Given the description of an element on the screen output the (x, y) to click on. 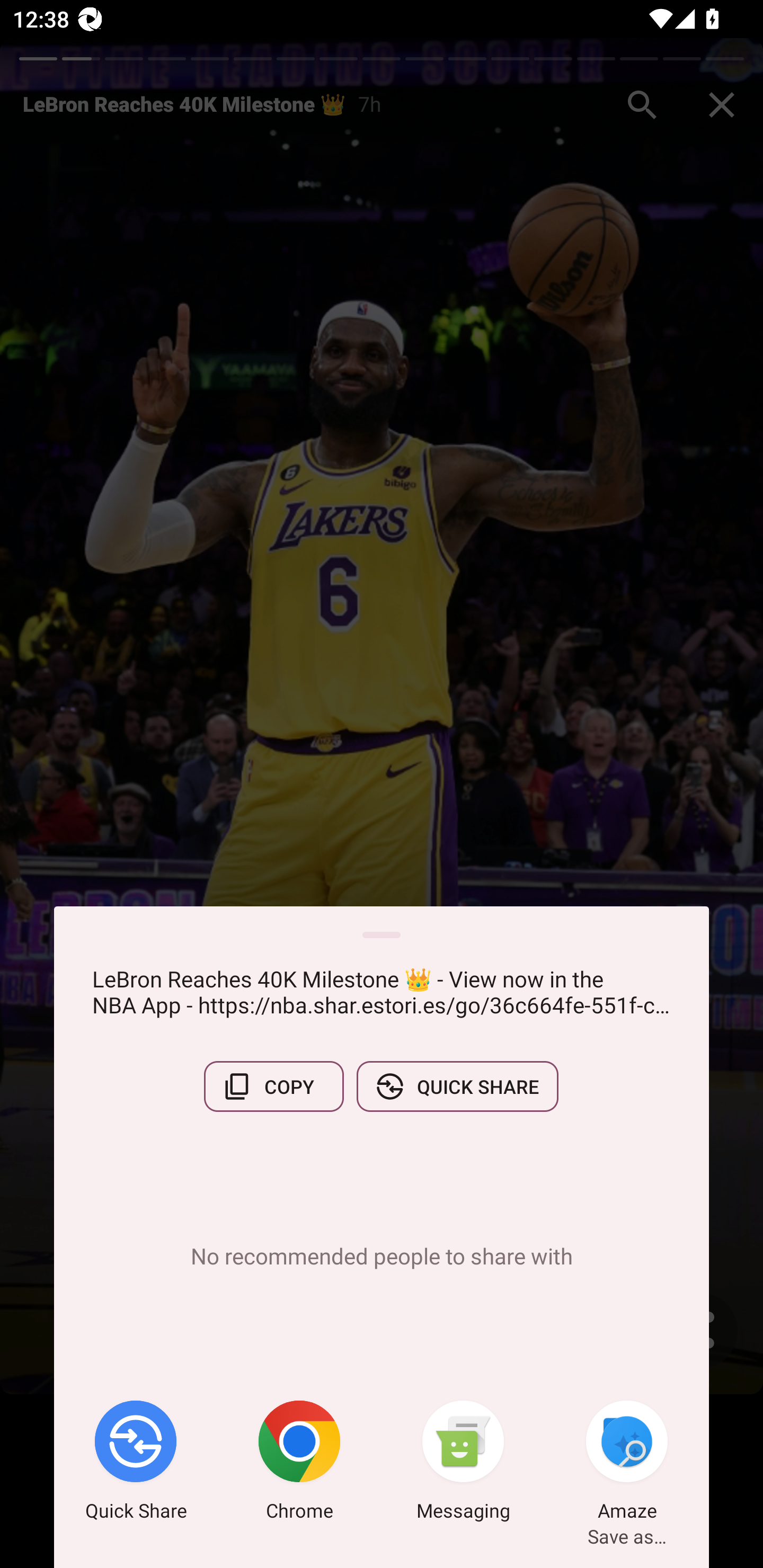
COPY (273, 1086)
QUICK SHARE (457, 1086)
Quick Share (135, 1463)
Chrome (299, 1463)
Messaging (463, 1463)
Amaze Save as… (626, 1463)
